Given the description of an element on the screen output the (x, y) to click on. 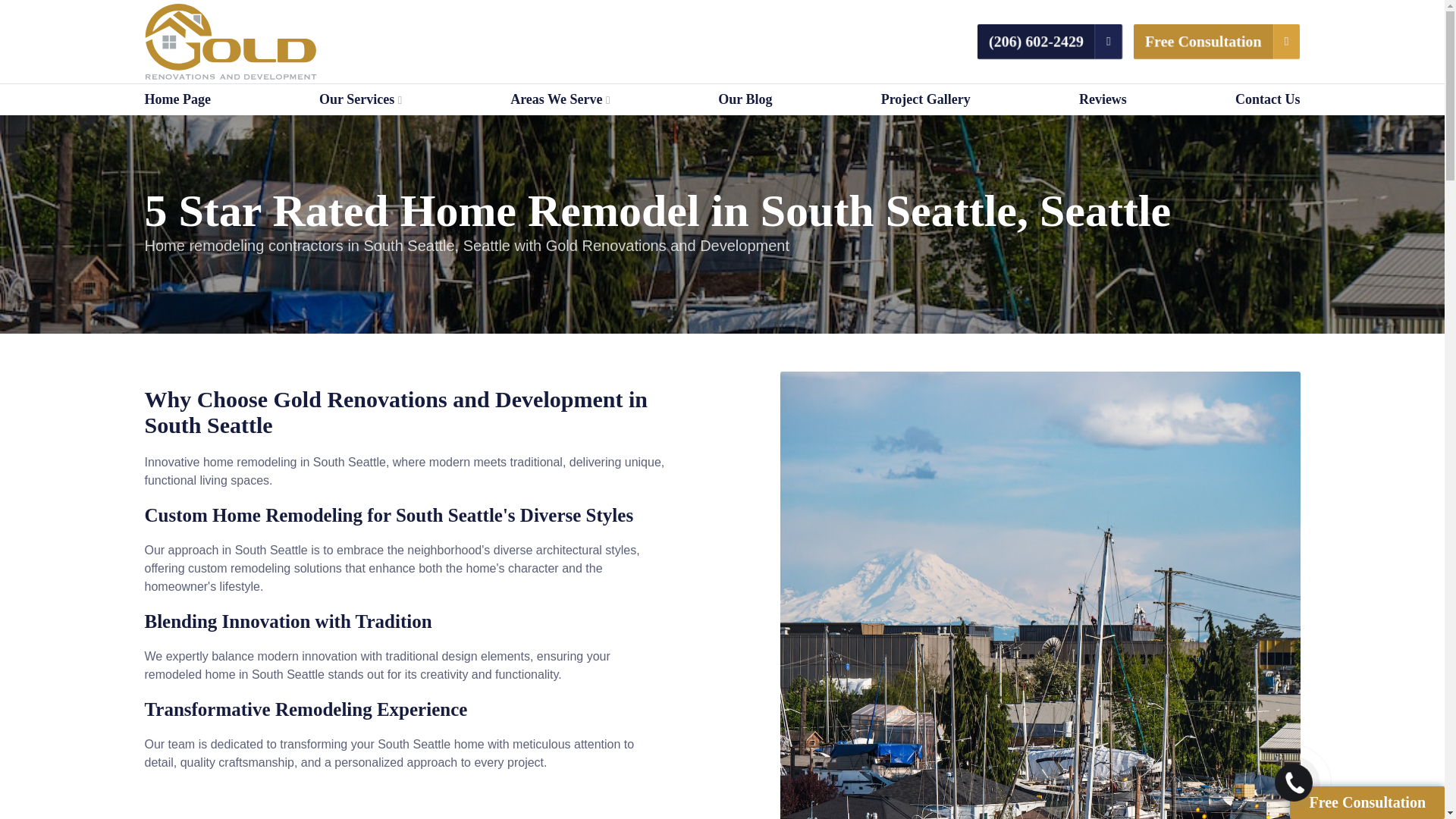
Free Consultation (1203, 41)
Project Gallery (925, 99)
Contact Us (1267, 99)
Home Page (176, 99)
Our Blog (744, 99)
Free Consultation (1366, 801)
Reviews (1102, 99)
Our Services (359, 99)
Areas We Serve (560, 99)
